Given the description of an element on the screen output the (x, y) to click on. 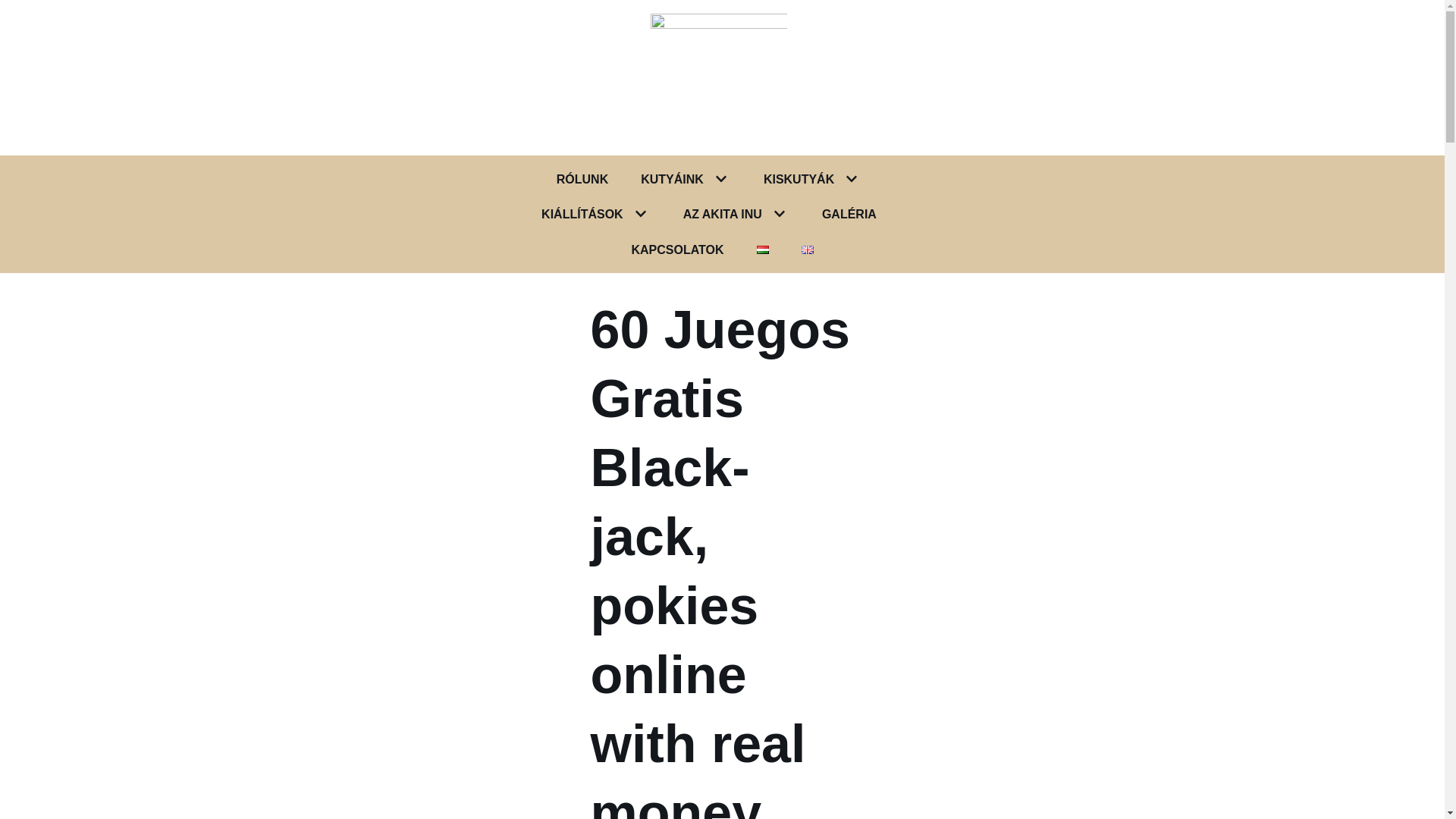
KAPCSOLATOK (676, 249)
AZ AKITA INU (721, 213)
Akai sora- Akita inu kennel (722, 77)
Skip to content (15, 7)
